Given the description of an element on the screen output the (x, y) to click on. 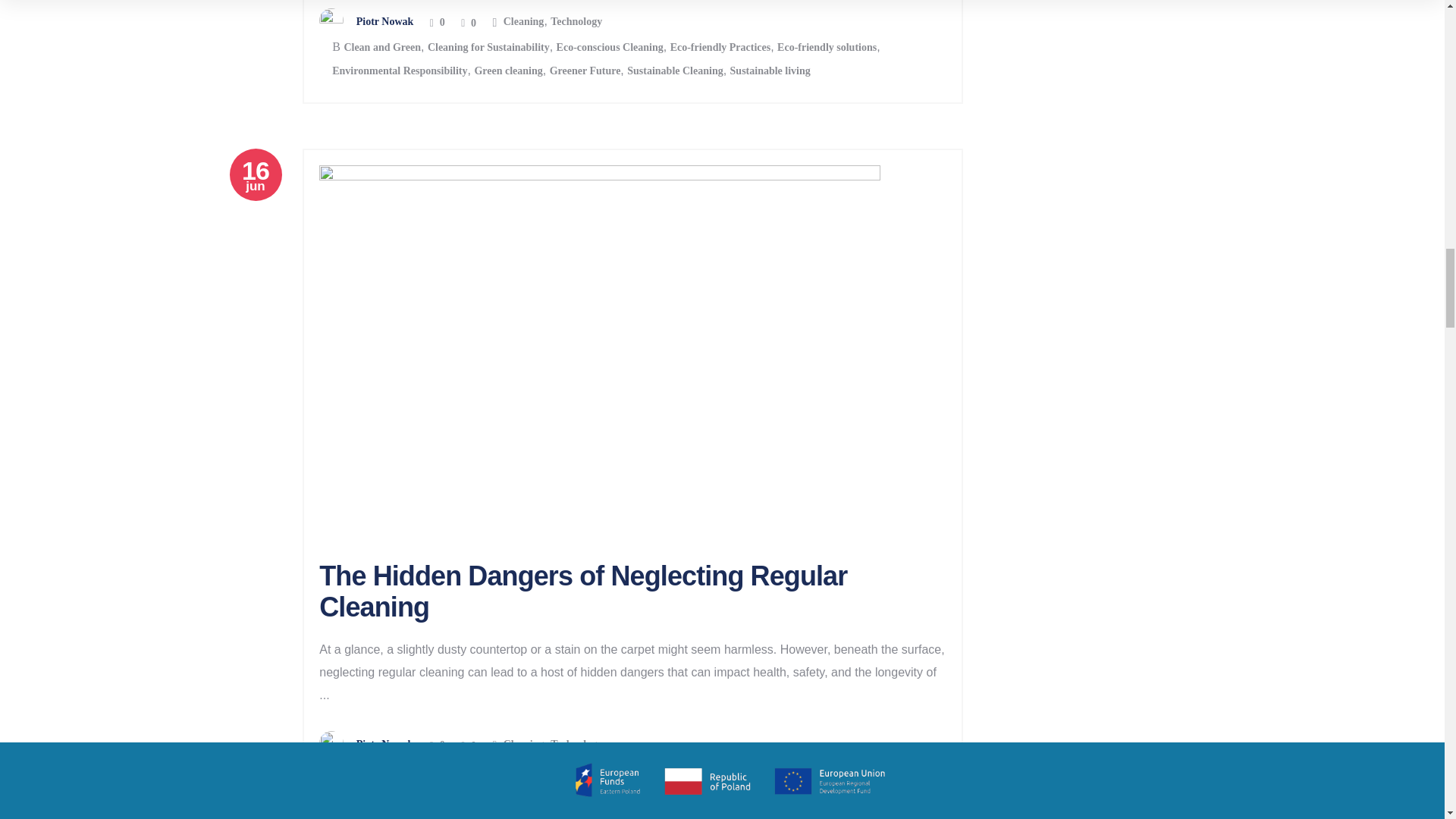
The Hidden Dangers of Neglecting Regular Cleaning (582, 590)
Like this (437, 22)
Like this (437, 745)
